Given the description of an element on the screen output the (x, y) to click on. 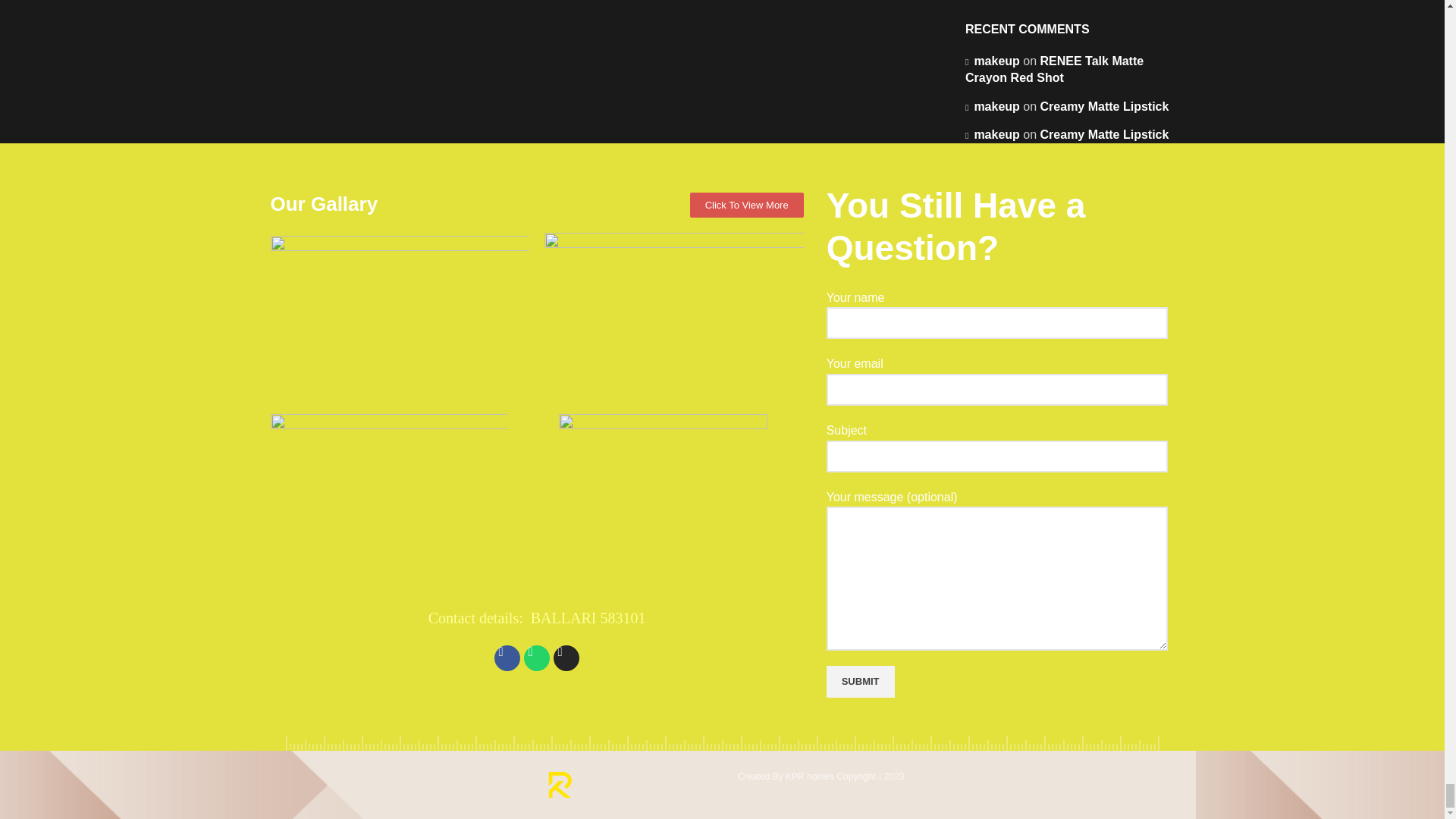
Submit (861, 681)
